Given the description of an element on the screen output the (x, y) to click on. 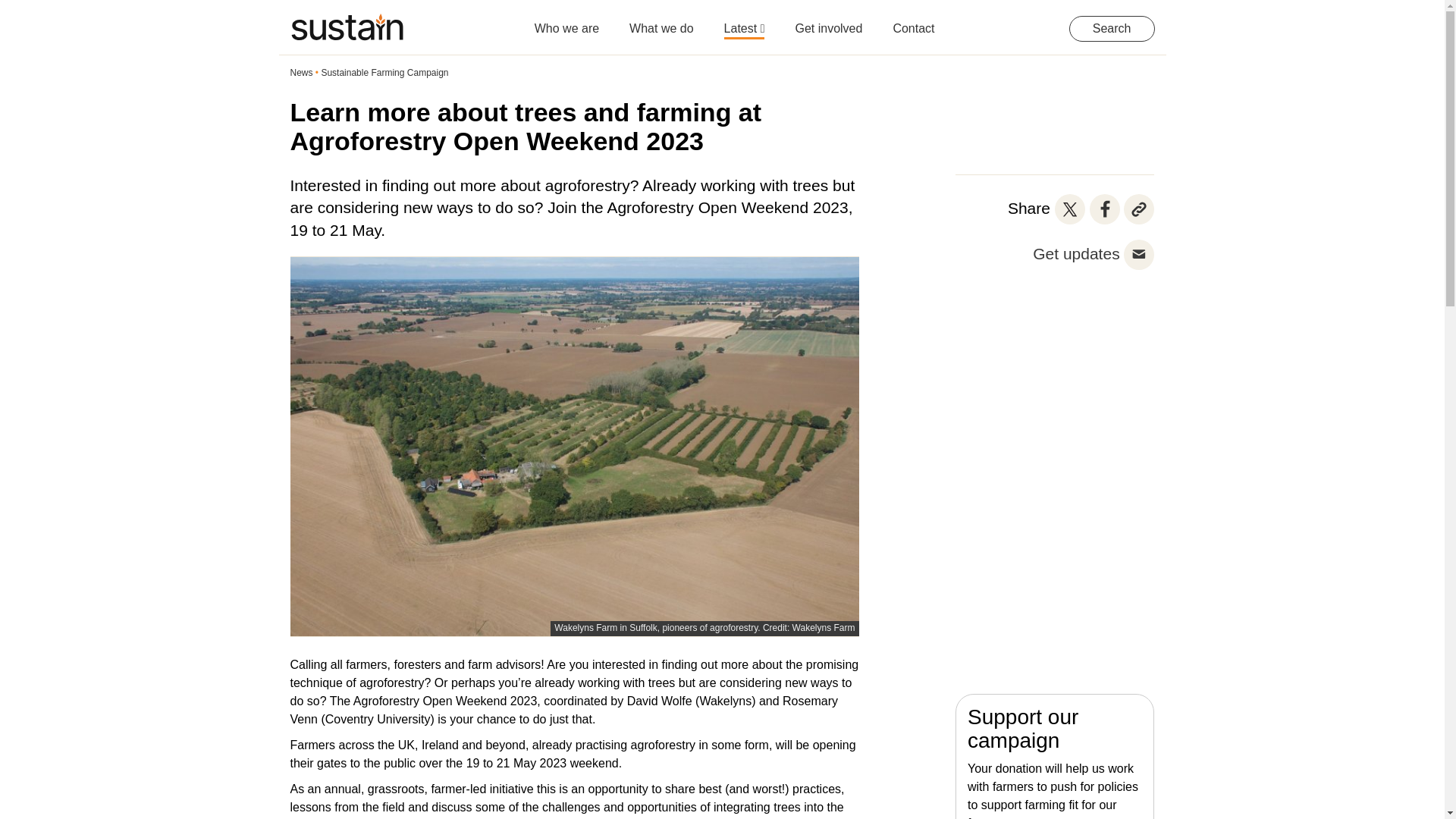
Get updates (1139, 254)
Get updates (1075, 253)
Who we are (566, 19)
Share link (1139, 209)
Get involved (827, 19)
Sustain: the alliance for better food and farming (346, 26)
Sustainable Farming Campaign (384, 72)
Twitter (1069, 209)
Latest (744, 19)
What we do (660, 19)
News (301, 72)
Contact (913, 19)
Facebook (1104, 209)
Search (1111, 28)
